Given the description of an element on the screen output the (x, y) to click on. 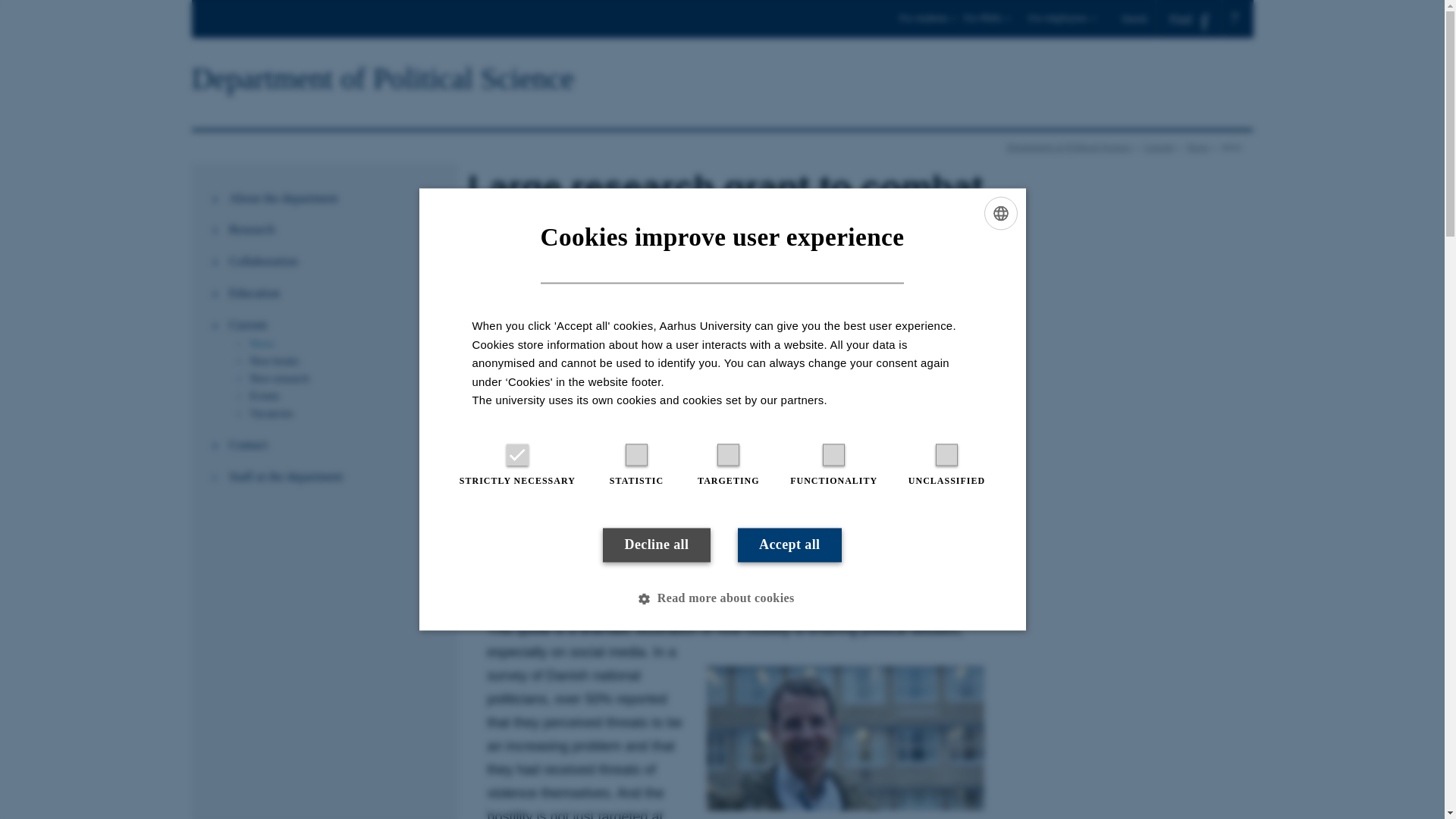
Dansk (1139, 18)
About the department (334, 198)
Department of Political Science (1069, 146)
Events (345, 395)
Contact (334, 444)
Department of Political Science (381, 78)
Find (1189, 19)
Search (17, 5)
Mia Ulvgraven Nielsen (626, 556)
News (1197, 146)
Education (334, 293)
Dansk (1139, 18)
Current (334, 324)
Staff at the department (334, 476)
Current (1158, 146)
